Given the description of an element on the screen output the (x, y) to click on. 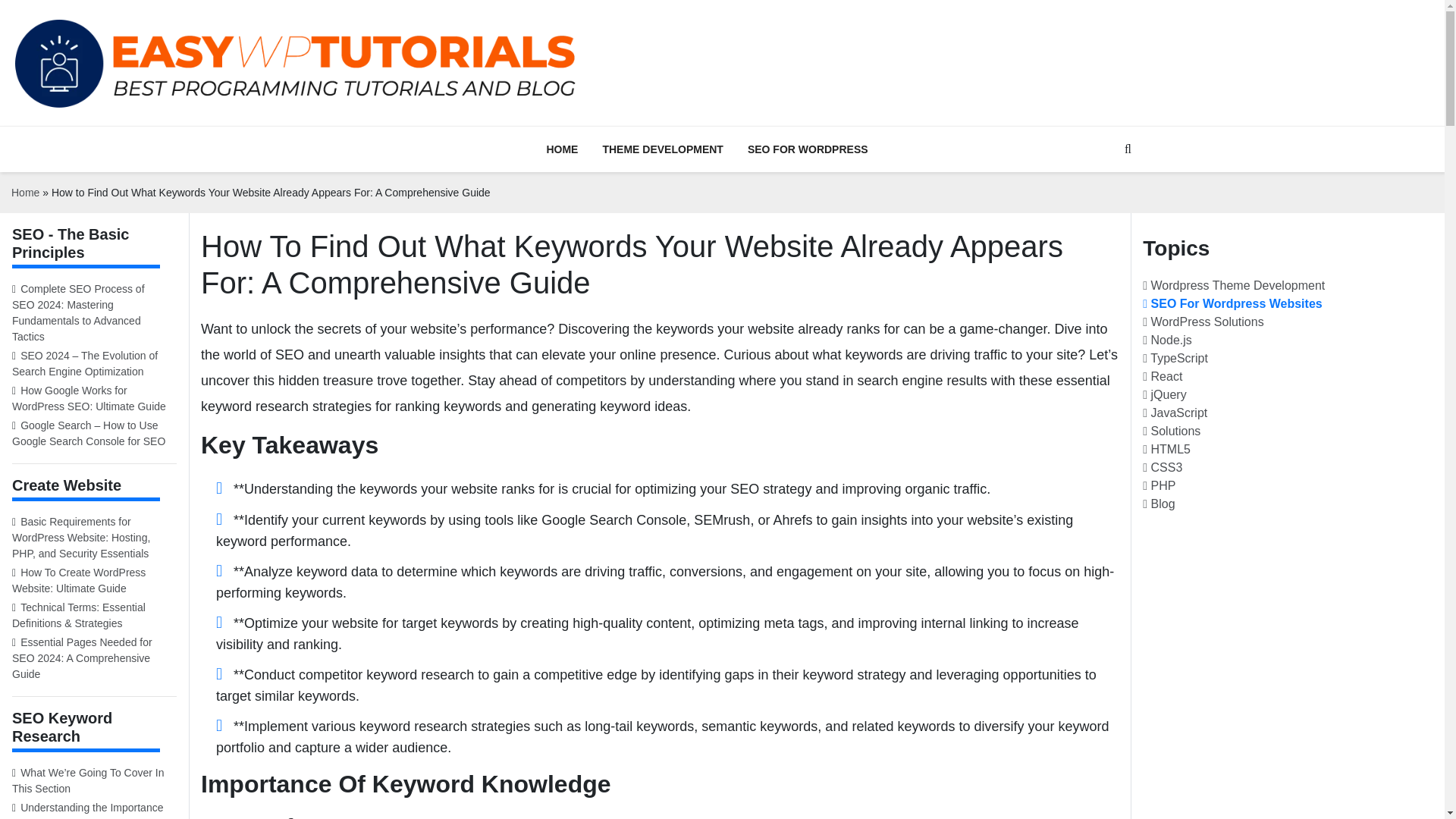
jQuery (1164, 394)
Best Programming Tutorials and Blog (294, 62)
Node.js (1167, 339)
SEO For Wordpress Websites (1232, 303)
PHP (1158, 485)
THEME DEVELOPMENT (662, 148)
HOME (561, 148)
Home (25, 192)
Wordpress Theme Development (1233, 285)
TypeScript (1175, 358)
Solutions (1170, 431)
Essential Pages Needed for SEO 2024: A Comprehensive Guide (93, 658)
